Given the description of an element on the screen output the (x, y) to click on. 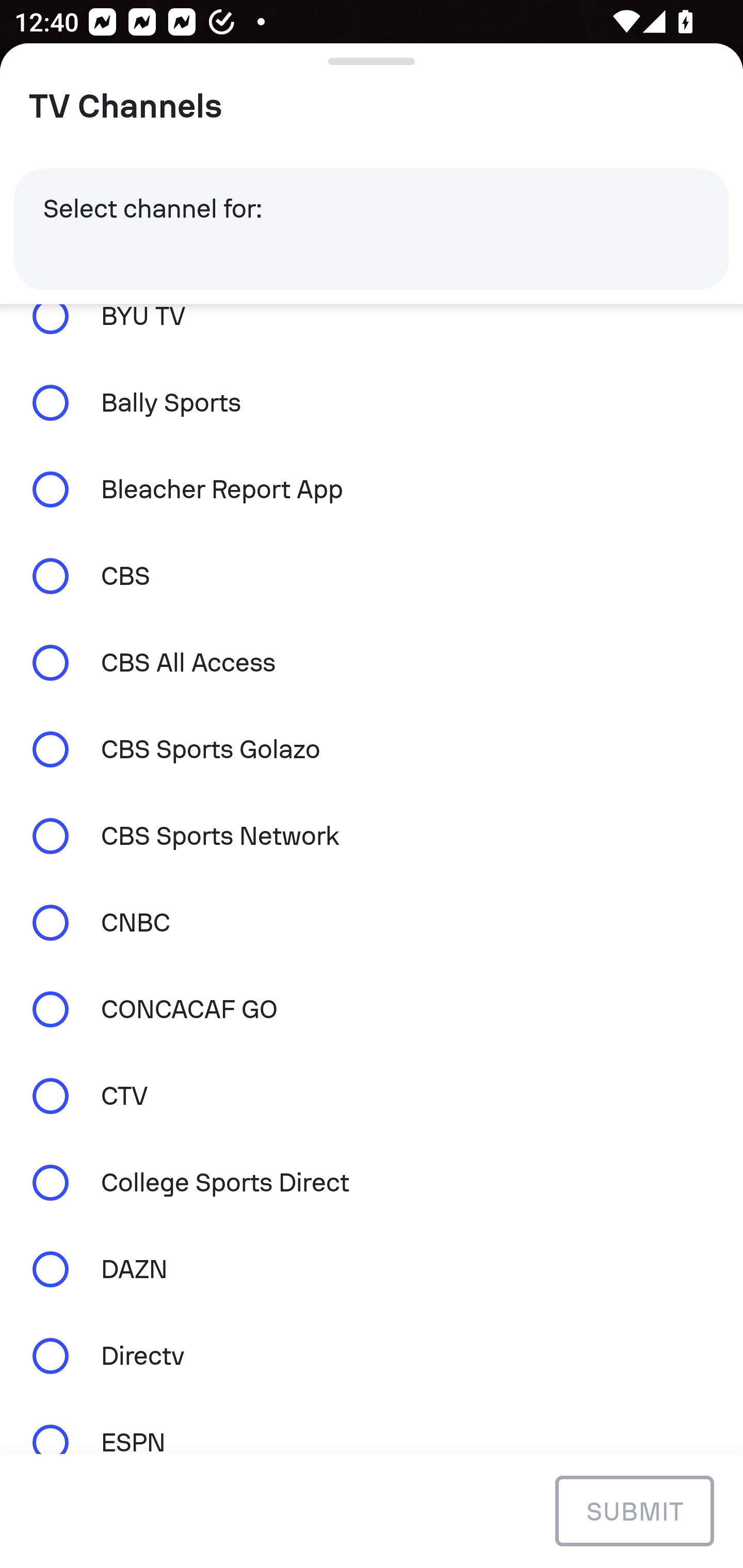
BYU TV (371, 331)
Bally Sports (371, 402)
Bleacher Report App (371, 489)
CBS (371, 576)
CBS All Access (371, 662)
CBS Sports Golazo (371, 749)
CBS Sports Network (371, 836)
CNBC (371, 922)
CONCACAF GO (371, 1008)
CTV (371, 1095)
College Sports Direct (371, 1182)
DAZN (371, 1269)
Directv (371, 1355)
ESPN (371, 1425)
SUBMIT (634, 1510)
